Given the description of an element on the screen output the (x, y) to click on. 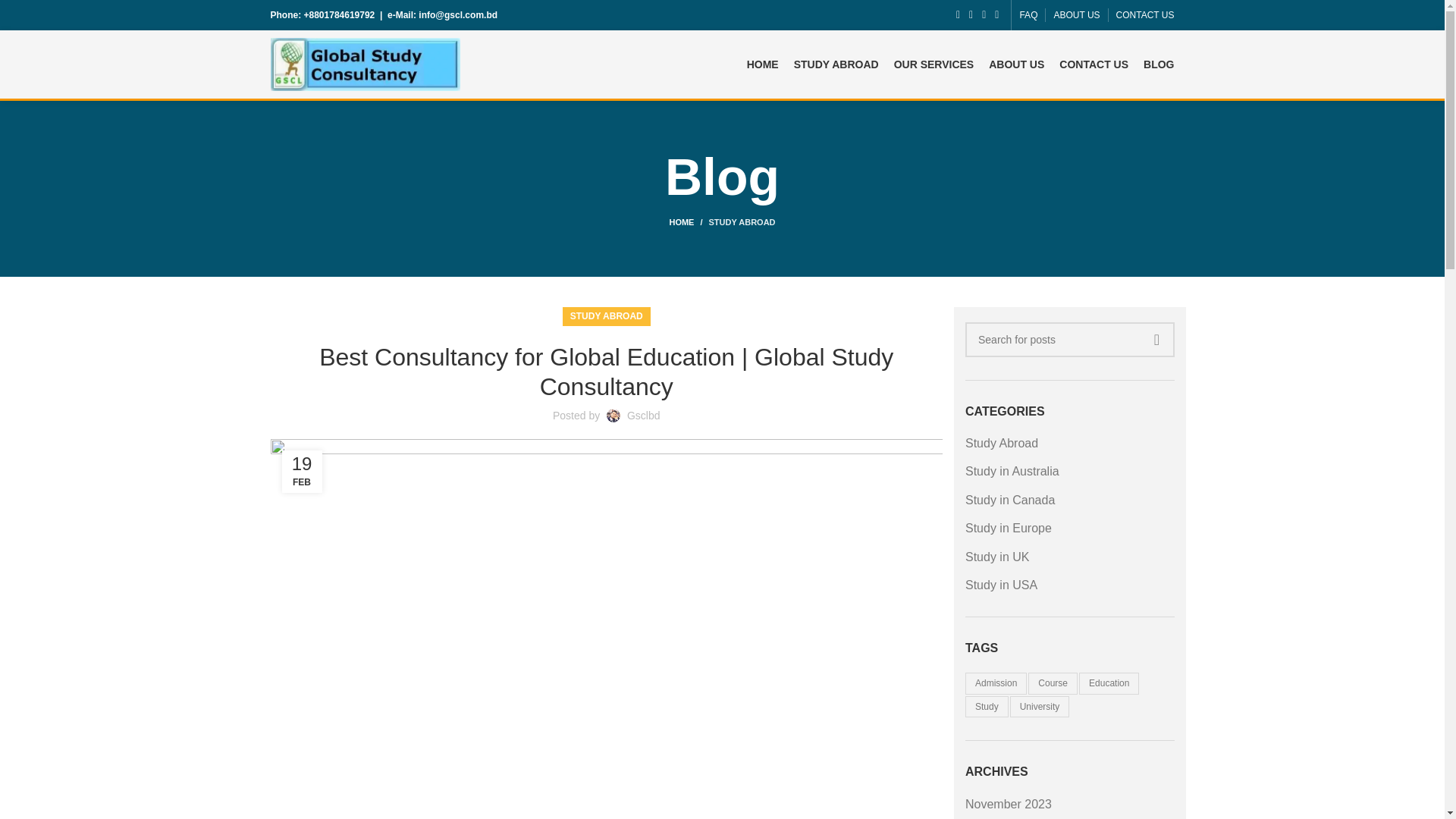
CONTACT US (1145, 15)
HOME (762, 64)
STUDY ABROAD (836, 64)
STUDY ABROAD (742, 221)
STUDY ABROAD (606, 316)
ABOUT US (1075, 15)
BLOG (1157, 64)
ABOUT US (1015, 64)
HOME (687, 222)
CONTACT US (1093, 64)
